Given the description of an element on the screen output the (x, y) to click on. 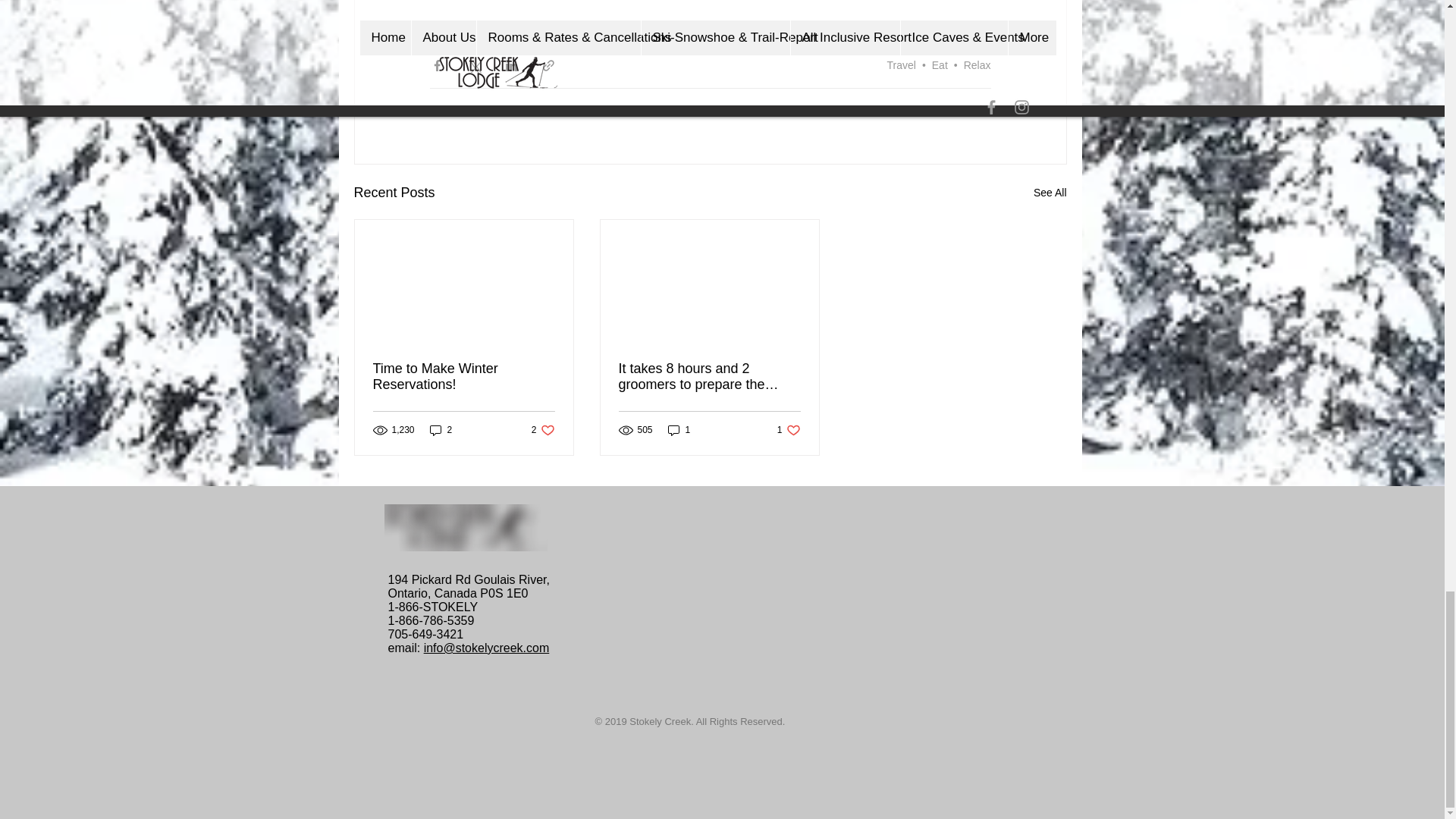
See All (1050, 192)
Travel (900, 64)
Time to Make Winter Reservations! (788, 430)
Relax (463, 377)
Eat (977, 64)
2 (939, 64)
1 (441, 430)
